Given the description of an element on the screen output the (x, y) to click on. 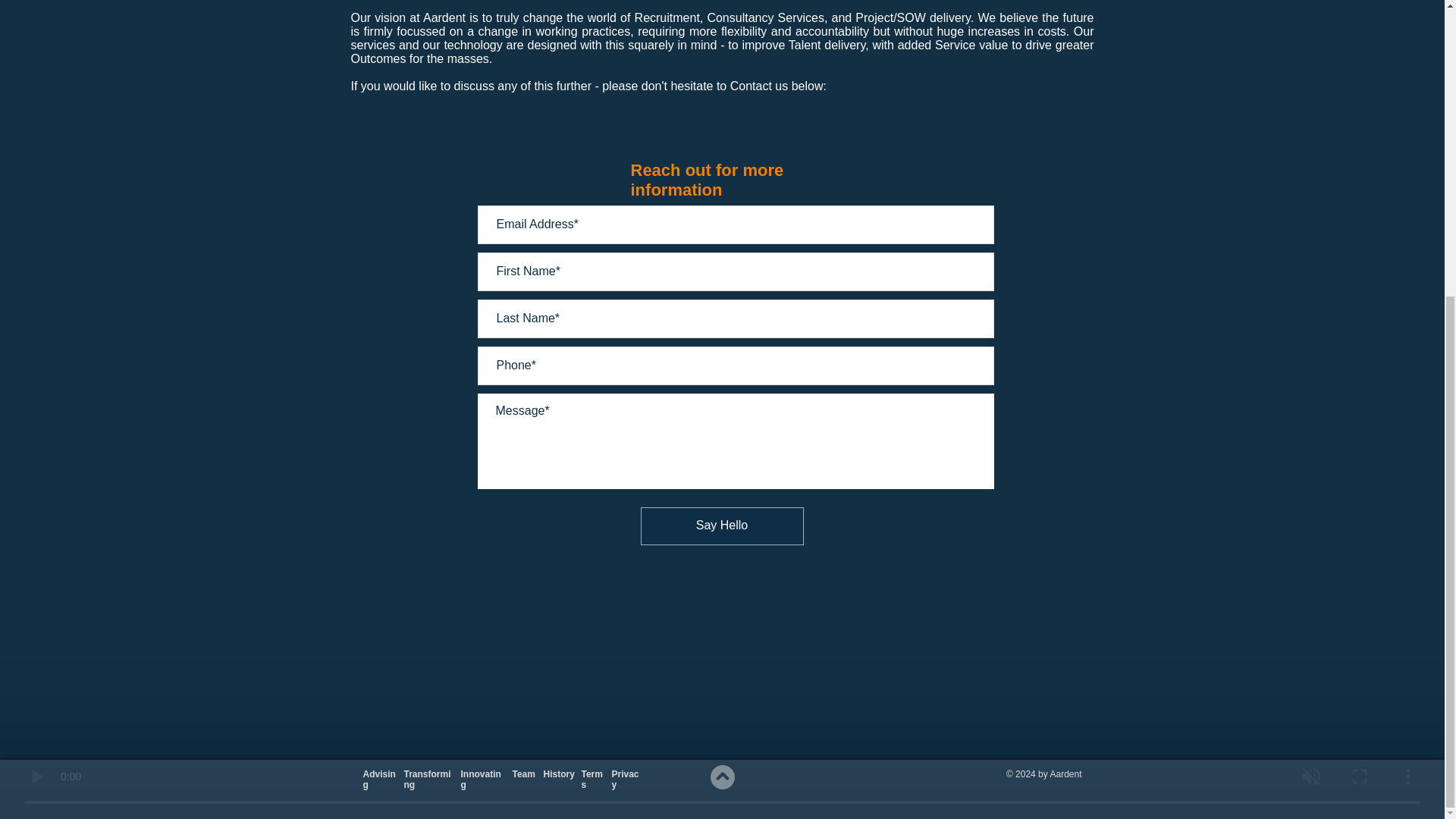
Terms (591, 322)
Say Hello (721, 525)
Advising (378, 322)
Innovating (480, 322)
History (558, 317)
Privacy (625, 322)
Team (523, 317)
Transforming (426, 322)
